Given the description of an element on the screen output the (x, y) to click on. 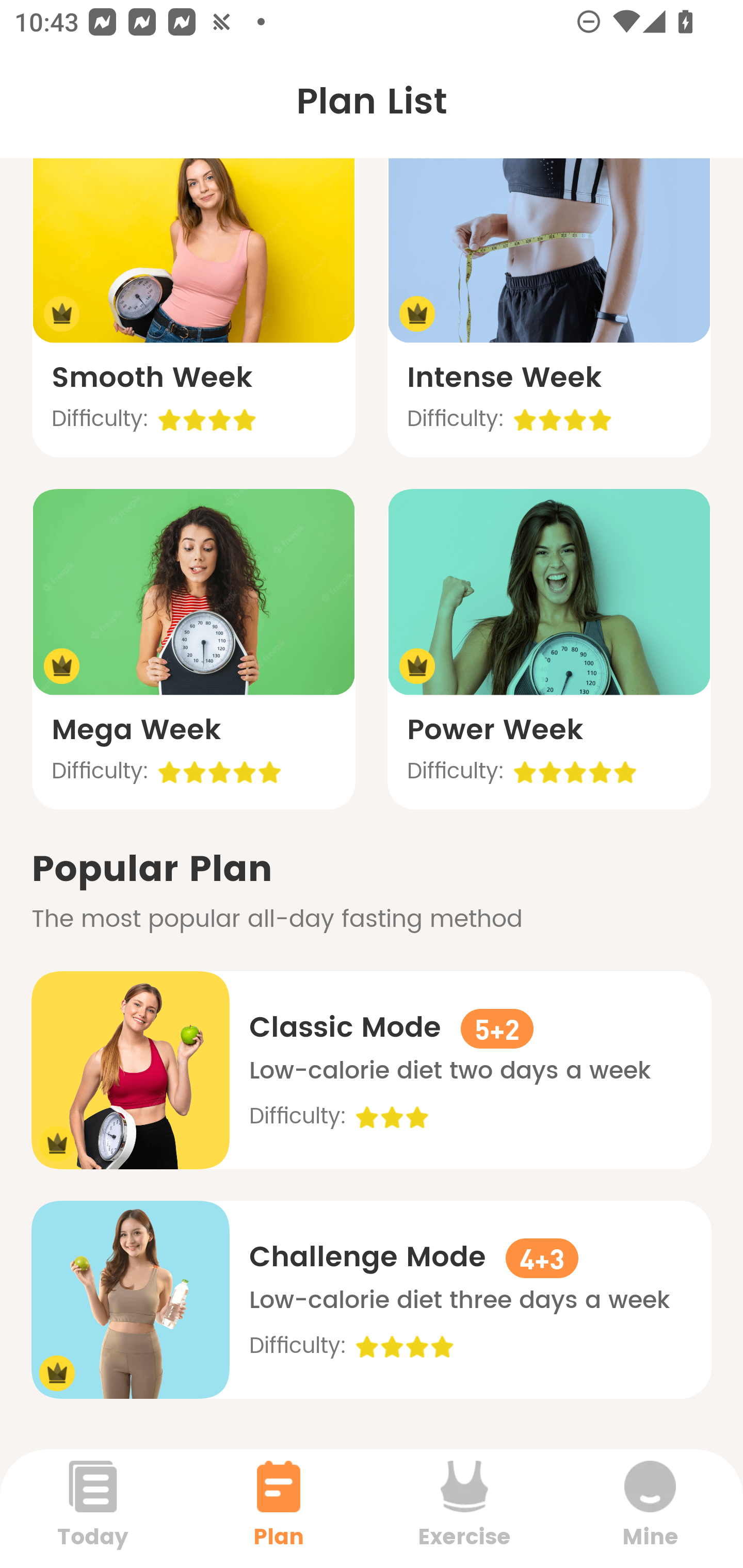
Smooth Week Difficulty: 4.0 (193, 296)
Intense Week Difficulty: 4.0 (549, 296)
Mega Week Difficulty: 5.0 (193, 649)
Power Week Difficulty: 5.0 (549, 649)
Today (92, 1508)
Exercise (464, 1508)
Mine (650, 1508)
